Given the description of an element on the screen output the (x, y) to click on. 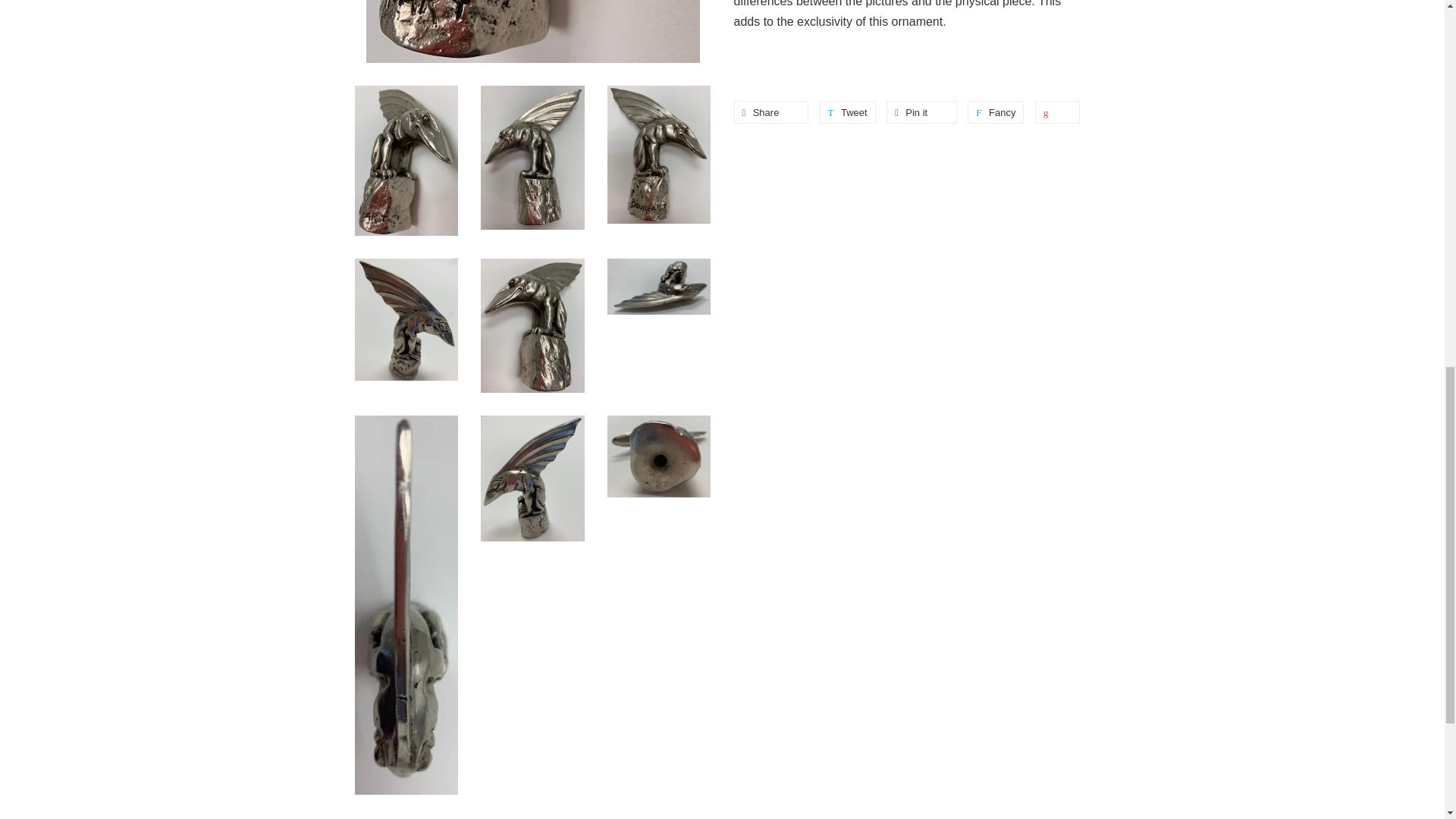
Share on Facebook (771, 111)
Pin on Pinterest (771, 111)
Add to Fancy (921, 111)
Tweet on Twitter (995, 111)
